Given the description of an element on the screen output the (x, y) to click on. 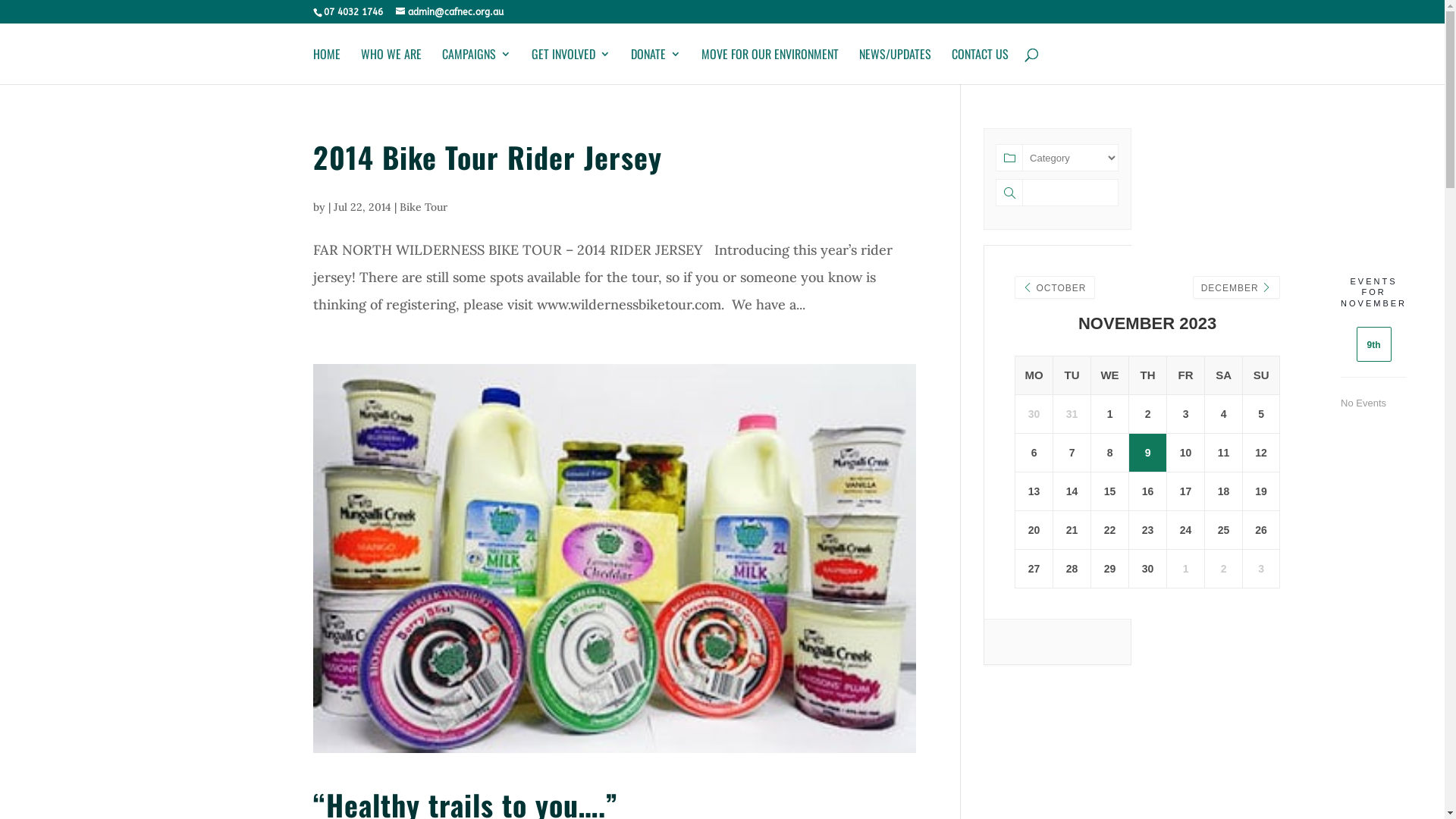
CONTACT US Element type: text (978, 66)
2014 Bike Tour Rider Jersey Element type: text (486, 156)
NEWS/UPDATES Element type: text (894, 66)
OCTOBER Element type: text (1053, 287)
admin@cafnec.org.au Element type: text (449, 11)
HOME Element type: text (325, 66)
MOVE FOR OUR ENVIRONMENT Element type: text (768, 66)
DONATE Element type: text (655, 66)
CAMPAIGNS Element type: text (475, 66)
GET INVOLVED Element type: text (569, 66)
Bike Tour Element type: text (422, 206)
WHO WE ARE Element type: text (390, 66)
DECEMBER Element type: text (1236, 287)
